Given the description of an element on the screen output the (x, y) to click on. 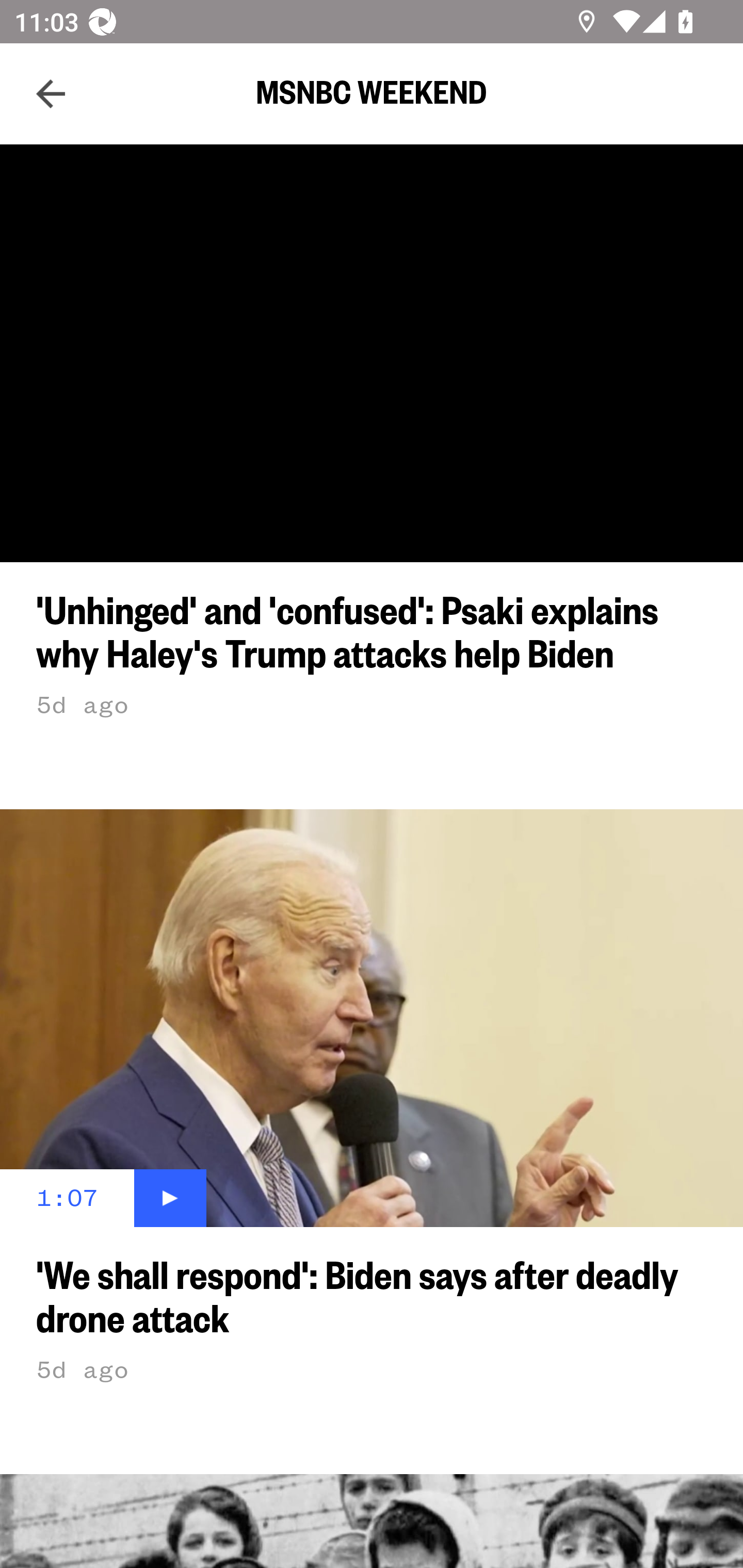
Navigate up (50, 93)
